Given the description of an element on the screen output the (x, y) to click on. 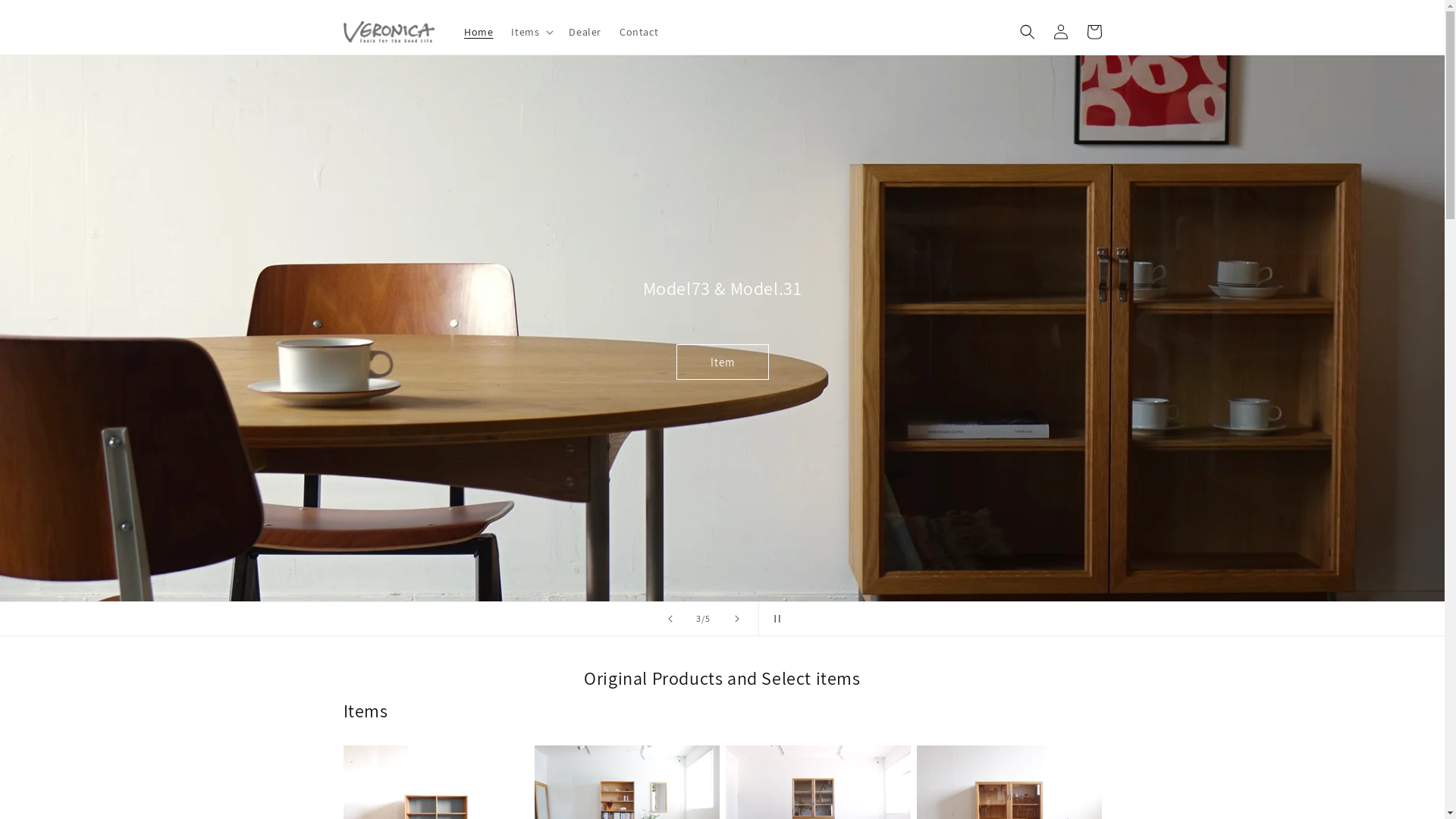
Home Element type: text (478, 31)
Item Element type: text (722, 361)
Dealer Element type: text (584, 31)
Contact Element type: text (638, 31)
